Given the description of an element on the screen output the (x, y) to click on. 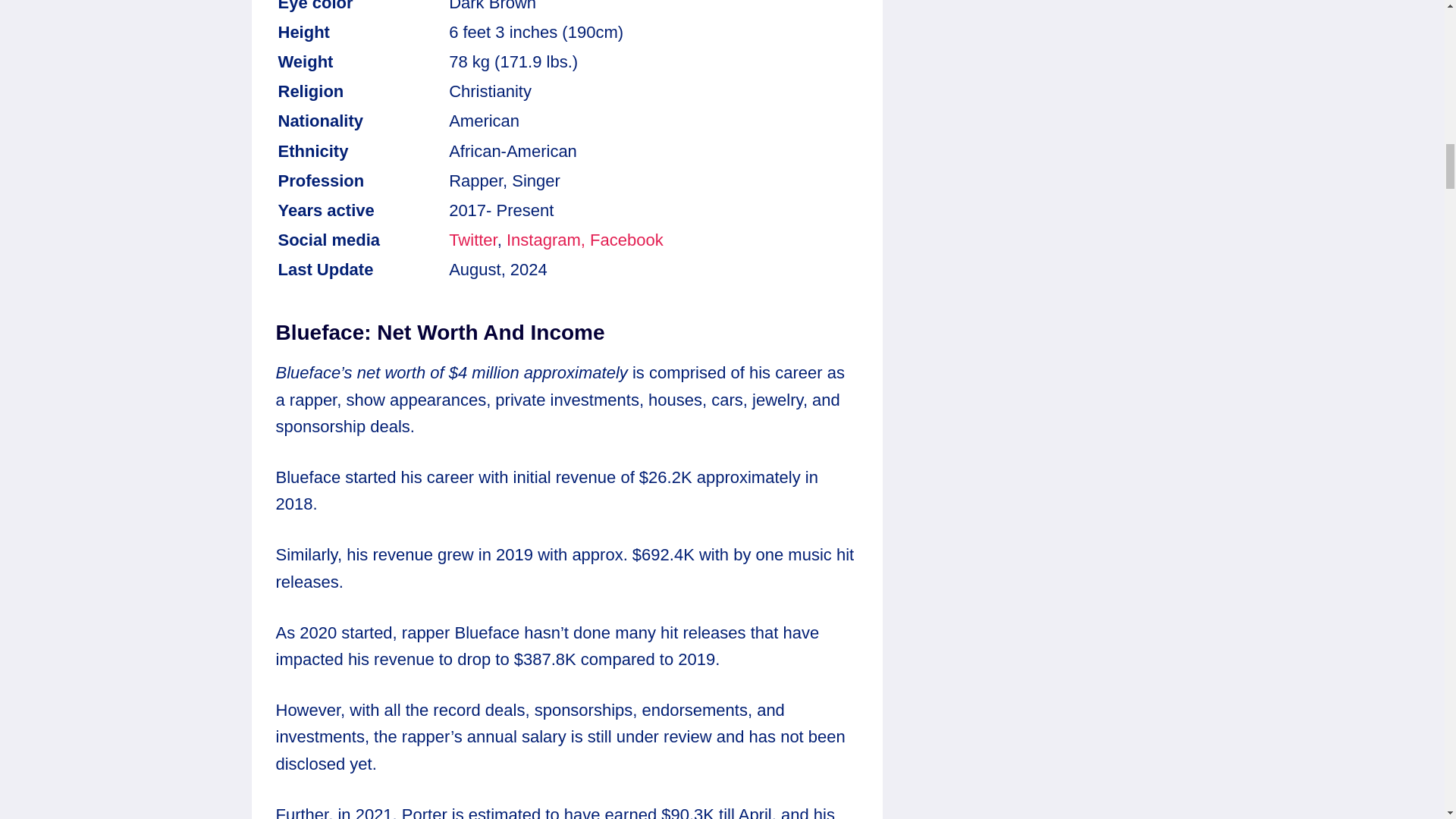
Facebook (626, 239)
Twitter (472, 239)
Instagram, (545, 239)
